Given the description of an element on the screen output the (x, y) to click on. 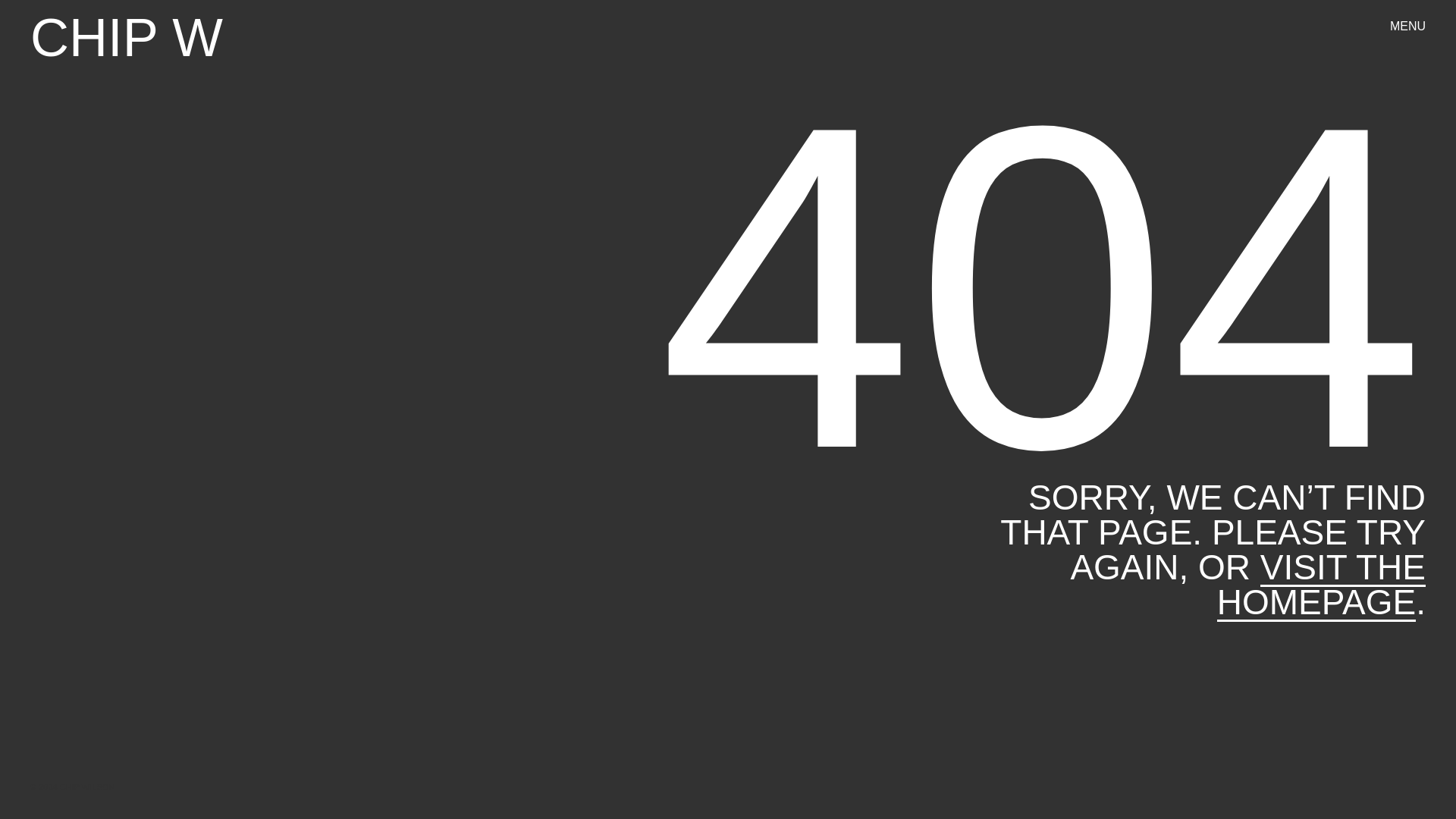
Solve FSHD (1307, 360)
Chip Wilson (887, 360)
Hold It All (1082, 360)
VISIT THE HOMEPAGE (1321, 584)
MENU (1407, 26)
Wilson 5 Foundation (882, 600)
CHIP WILSON (126, 37)
Low Tide Properties (1295, 600)
CHIP WILSON (126, 37)
